Given the description of an element on the screen output the (x, y) to click on. 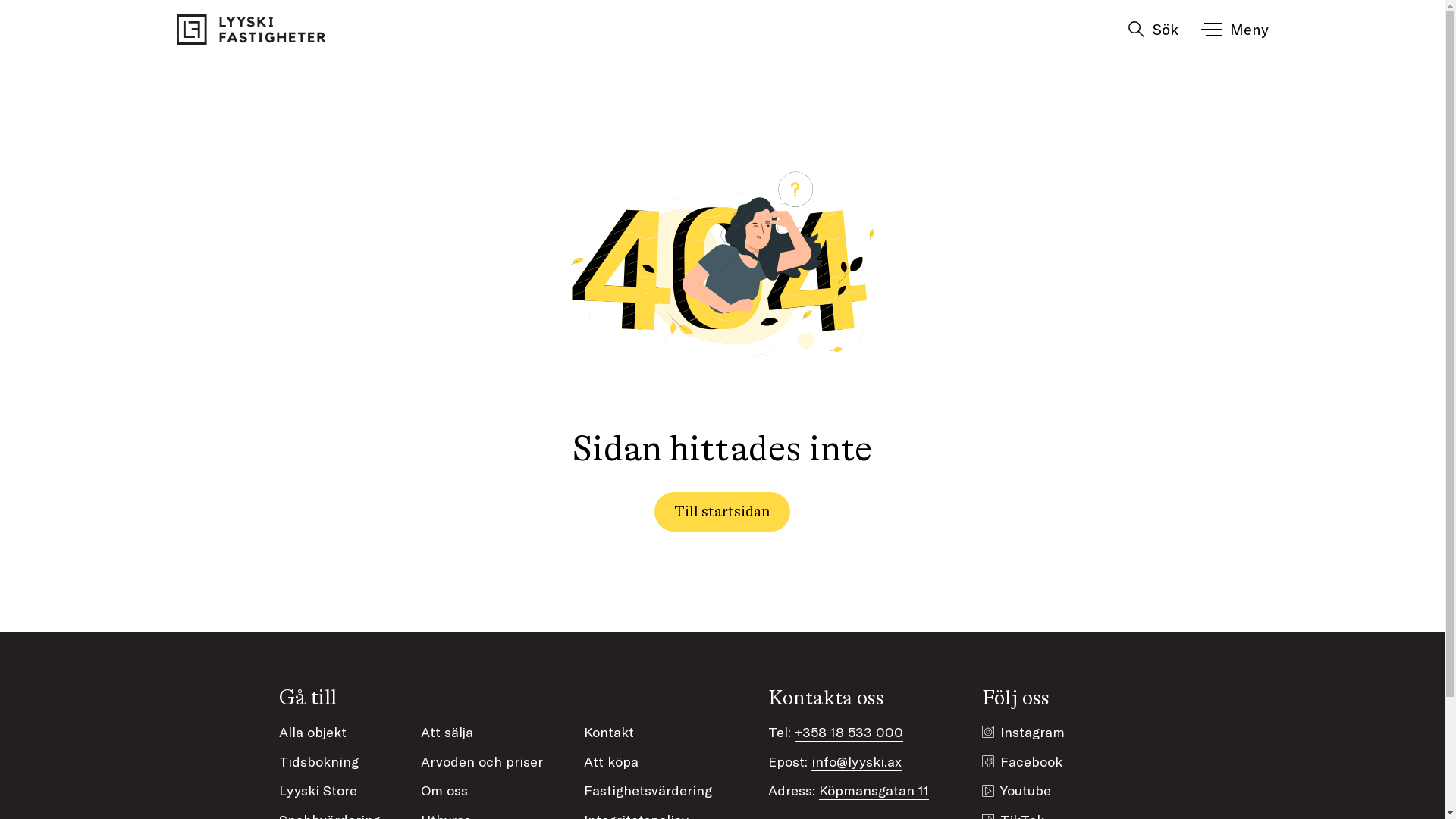
Youtube Element type: text (1025, 790)
Instagram Element type: text (1032, 731)
Tidsbokning Element type: text (318, 761)
Lyyski Store Element type: text (318, 789)
Facebook Element type: text (1031, 761)
info@lyyski.ax Element type: text (856, 761)
Lyyski Fastigheter Element type: text (251, 29)
Arvoden och priser Element type: text (481, 761)
+358 18 533 000 Element type: text (848, 731)
Kontakt Element type: text (608, 731)
Alla objekt Element type: text (312, 731)
Till startsidan Element type: text (722, 511)
Meny Element type: text (1236, 31)
Om oss Element type: text (443, 789)
